Given the description of an element on the screen output the (x, y) to click on. 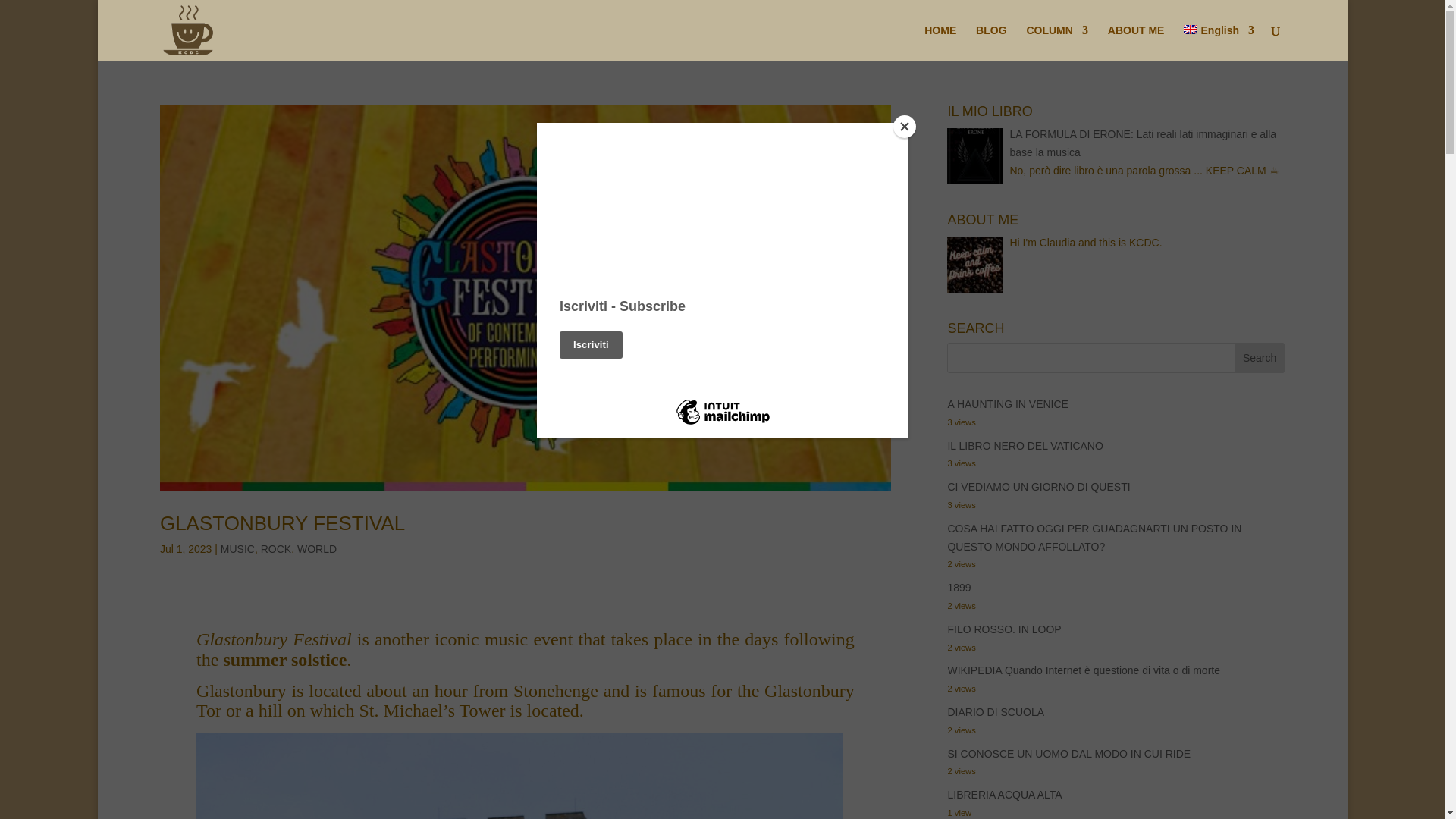
English (1218, 42)
COLUMN (1056, 42)
HOME (940, 42)
ABOUT ME (1136, 42)
Search (1259, 358)
English (1218, 42)
